Given the description of an element on the screen output the (x, y) to click on. 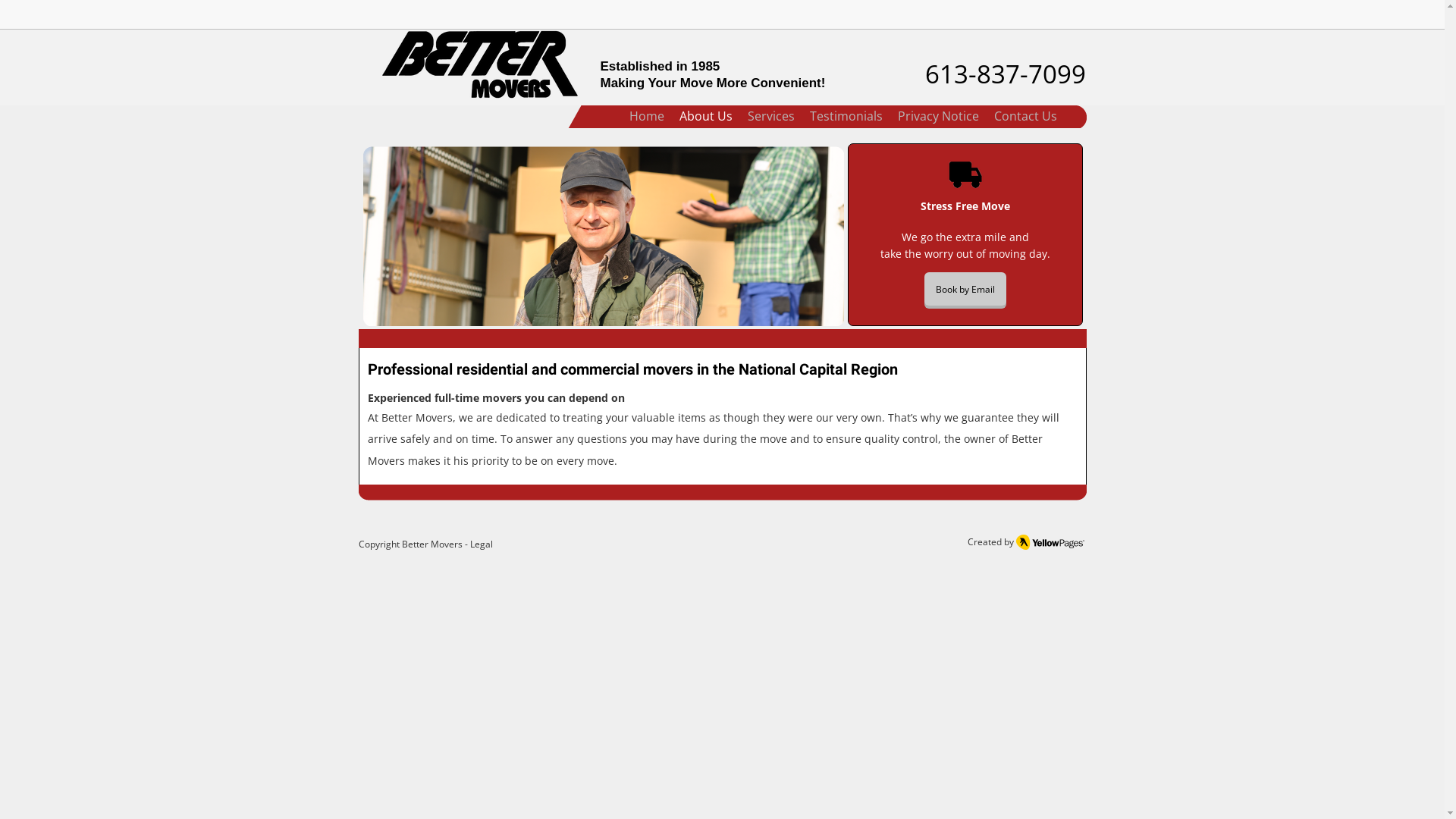
Privacy Notice Element type: text (938, 116)
Contact Us Element type: text (1024, 116)
Embedded Content Element type: hover (982, 15)
Testimonials Element type: text (846, 116)
Embedded Content Element type: hover (1063, 19)
Services Element type: text (771, 116)
613-837-7099 Element type: text (1005, 73)
Better Movers Element type: text (431, 543)
Home Element type: text (646, 116)
About Us Element type: text (705, 116)
Book by Email Element type: text (964, 288)
Legal Element type: text (481, 543)
